Given the description of an element on the screen output the (x, y) to click on. 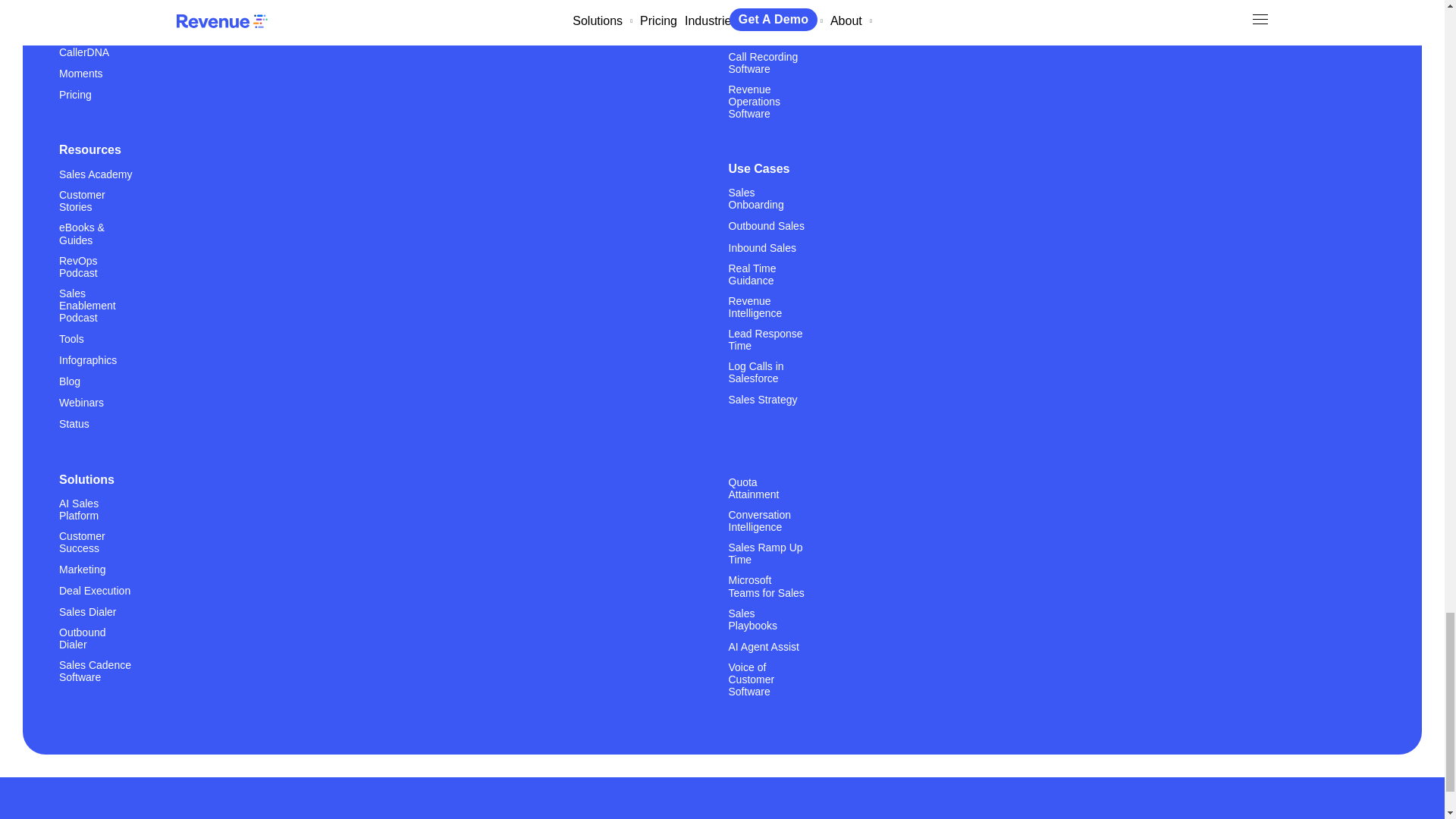
CallerDNA (84, 51)
Guided Selling (93, 30)
Moments (81, 72)
Conversation AI (96, 9)
